Given the description of an element on the screen output the (x, y) to click on. 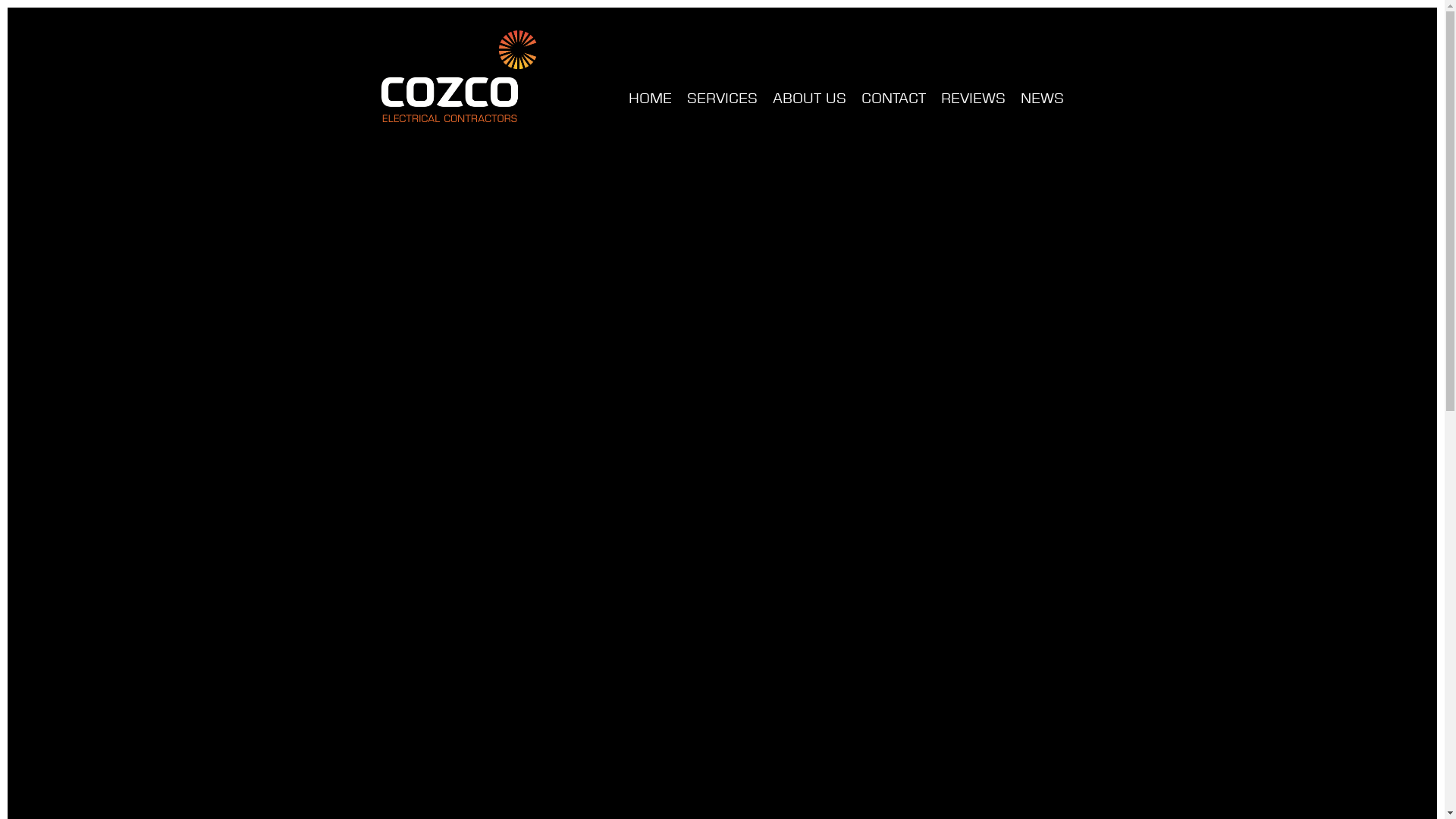
NEWS Element type: text (1042, 98)
HOME Element type: text (649, 98)
REVIEWS Element type: text (972, 98)
CONTACT Element type: text (893, 98)
ABOUT US Element type: text (808, 98)
SERVICES Element type: text (722, 98)
